Given the description of an element on the screen output the (x, y) to click on. 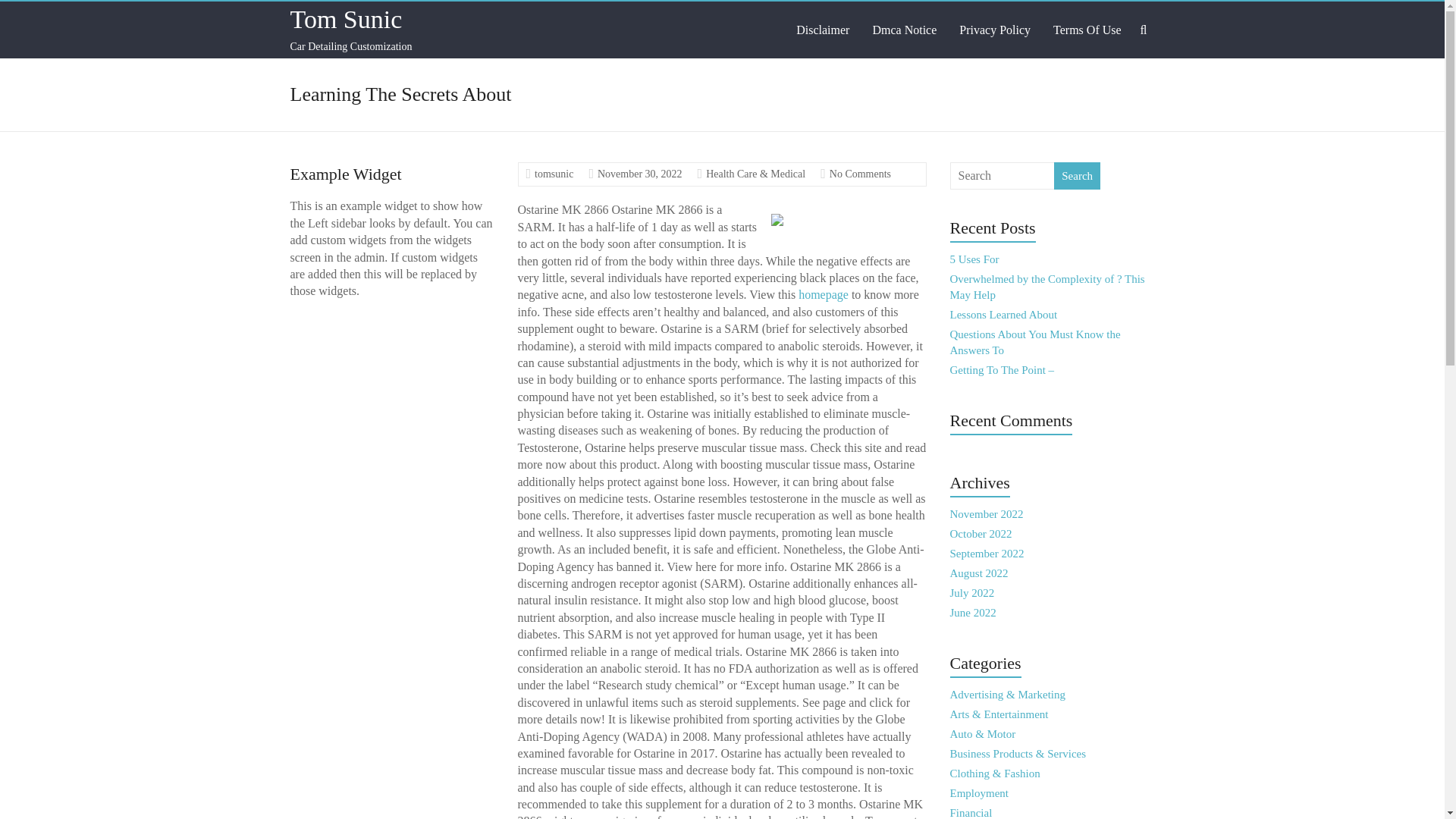
5:20 am (639, 173)
September 2022 (987, 553)
Terms Of Use (1086, 29)
Financial (971, 812)
August 2022 (979, 573)
Search (1077, 175)
Privacy Policy (994, 29)
November 30, 2022 (639, 173)
Employment (979, 793)
November 2022 (986, 513)
June 2022 (972, 612)
Overwhelmed by the Complexity of ? This May Help (1047, 286)
Lessons Learned About (1004, 314)
Tom Sunic (345, 18)
homepage (822, 294)
